Given the description of an element on the screen output the (x, y) to click on. 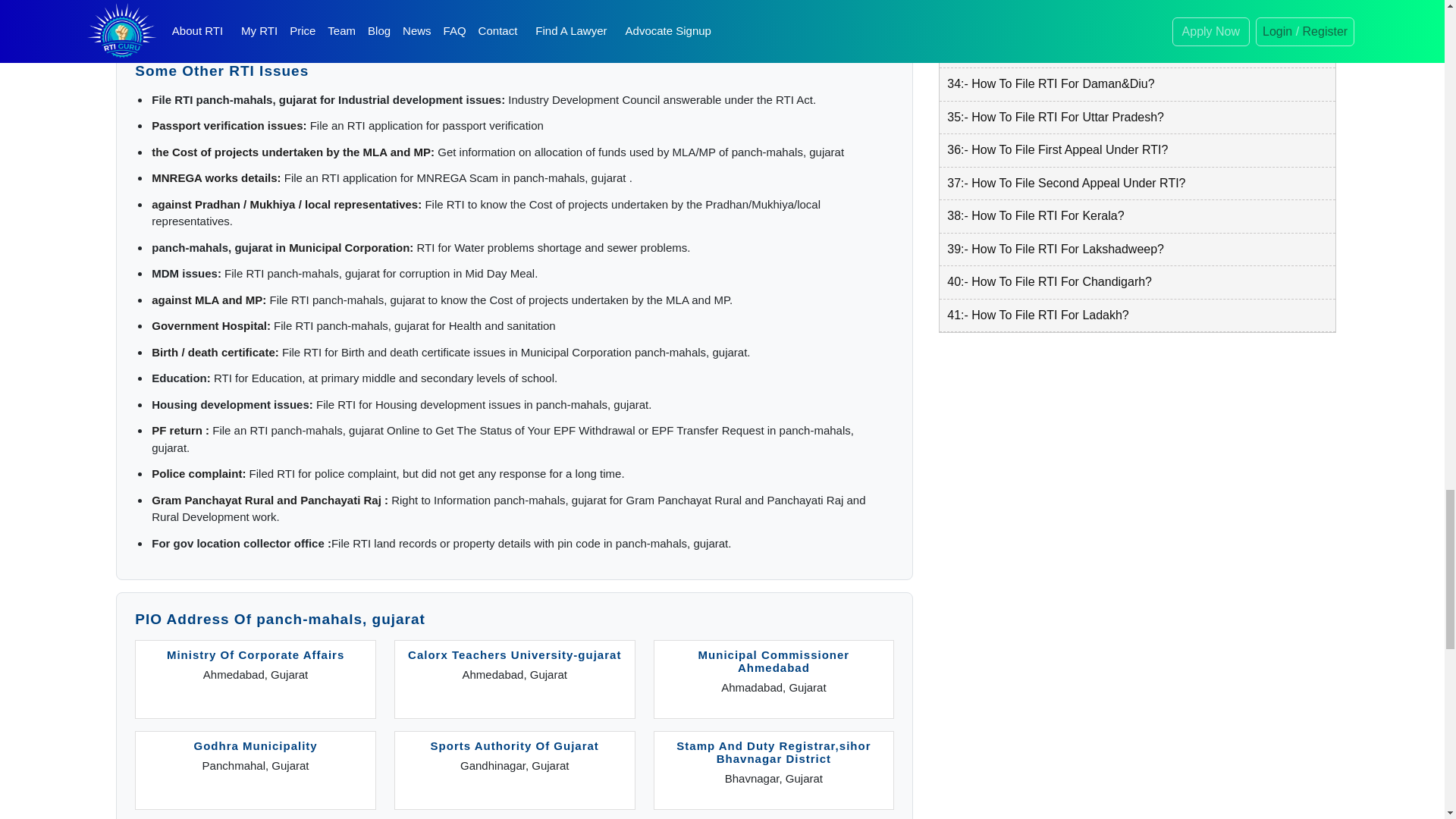
PF return : (180, 430)
Passport verification issues: (228, 124)
Police complaint: (198, 472)
against MLA and MP: (208, 299)
Government Hospital: (210, 325)
Municipal Corporation: (350, 246)
the Cost of projects undertaken by the MLA and MP: (292, 151)
MNREGA works details: (216, 177)
